Given the description of an element on the screen output the (x, y) to click on. 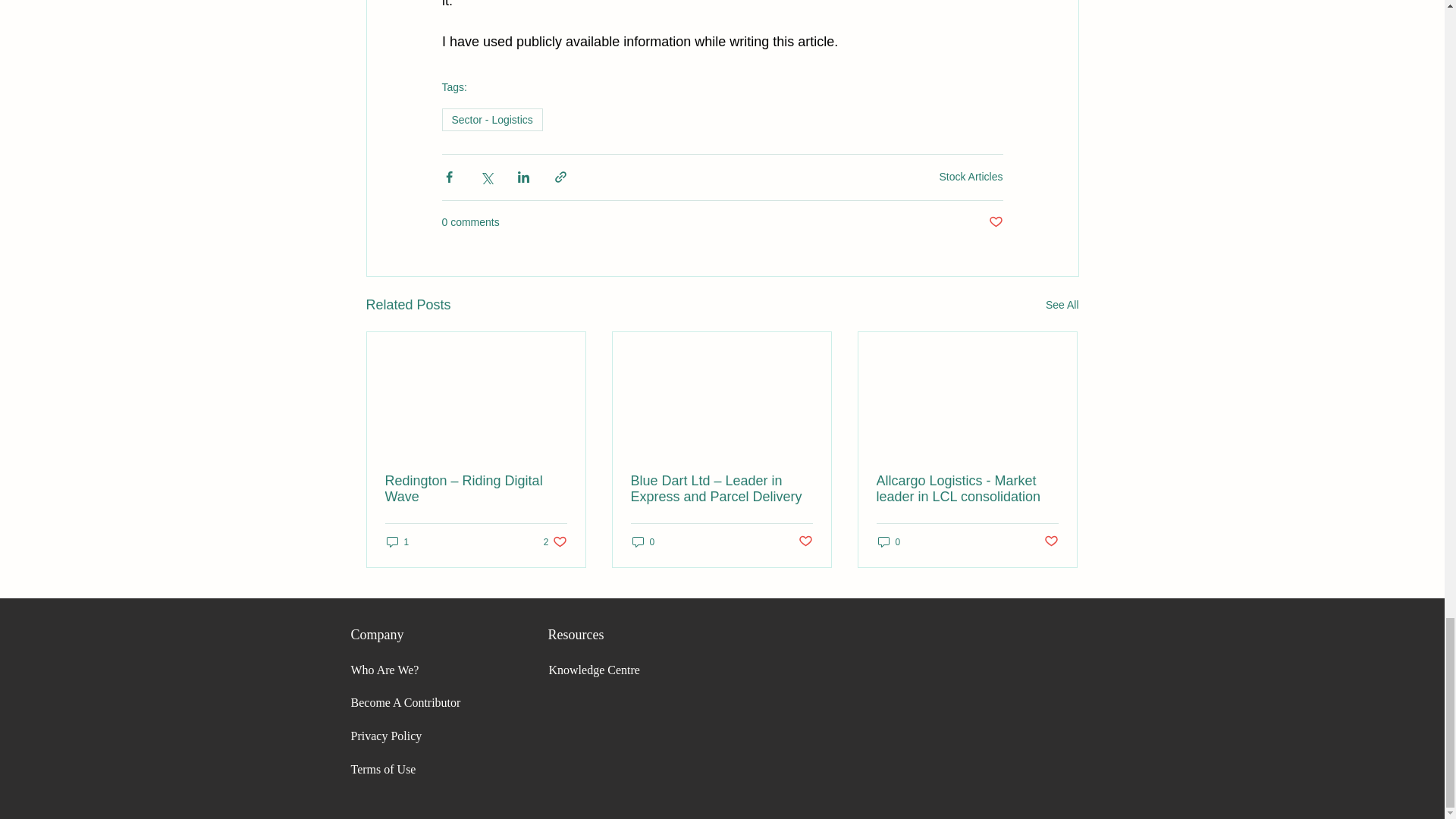
0 (889, 541)
Sector - Logistics (491, 119)
1 (397, 541)
0 (643, 541)
Who Are We? (384, 669)
Privacy Policy (555, 541)
Knowledge Centre (386, 735)
Stock Articles (594, 669)
See All (971, 176)
